Given the description of an element on the screen output the (x, y) to click on. 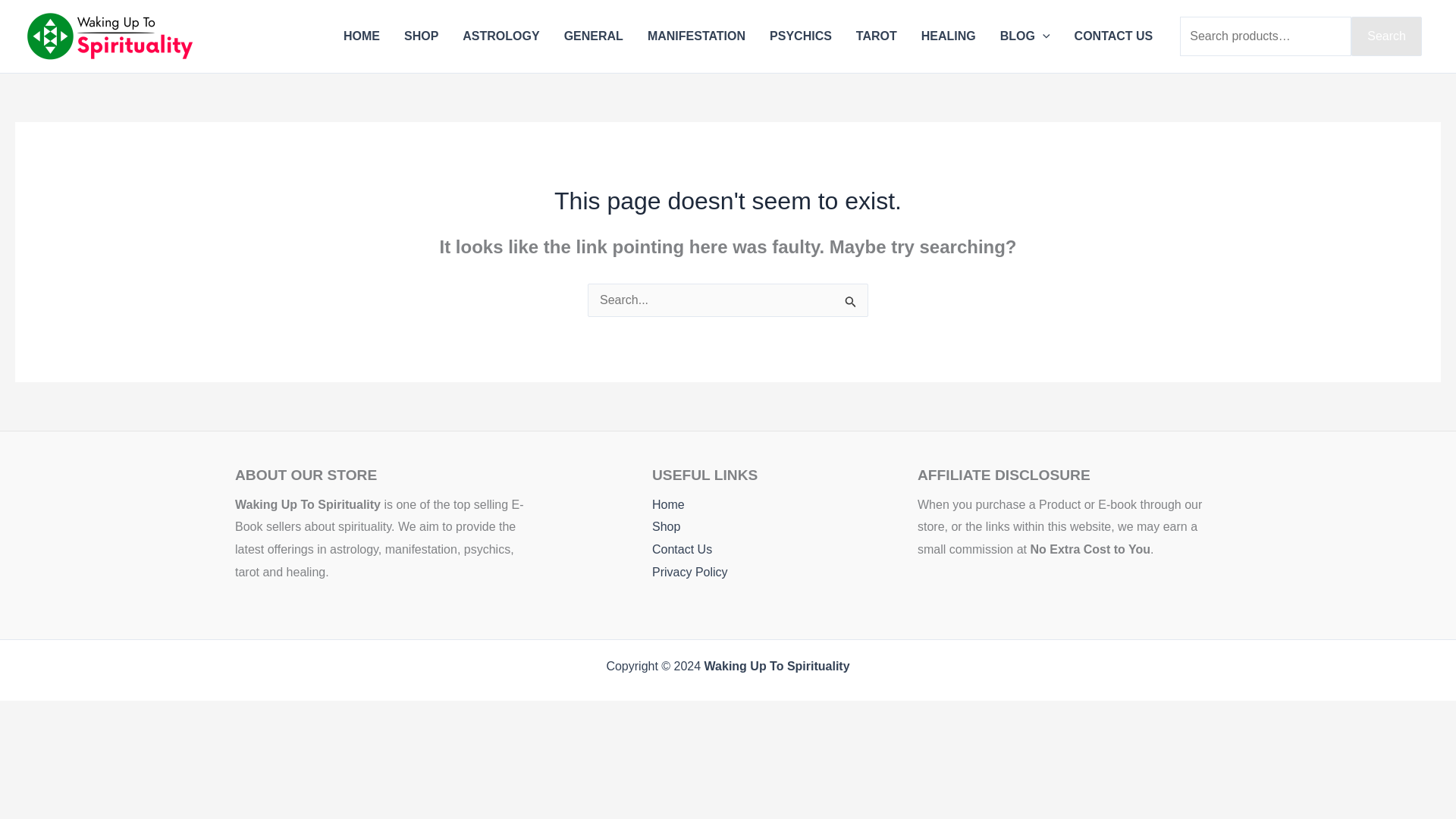
SHOP (420, 35)
ASTROLOGY (500, 35)
BLOG (1025, 35)
TAROT (876, 35)
CONTACT US (1114, 35)
HEALING (948, 35)
GENERAL (592, 35)
Search (1386, 36)
PSYCHICS (800, 35)
HOME (361, 35)
Home (630, 504)
MANIFESTATION (695, 35)
